Given the description of an element on the screen output the (x, y) to click on. 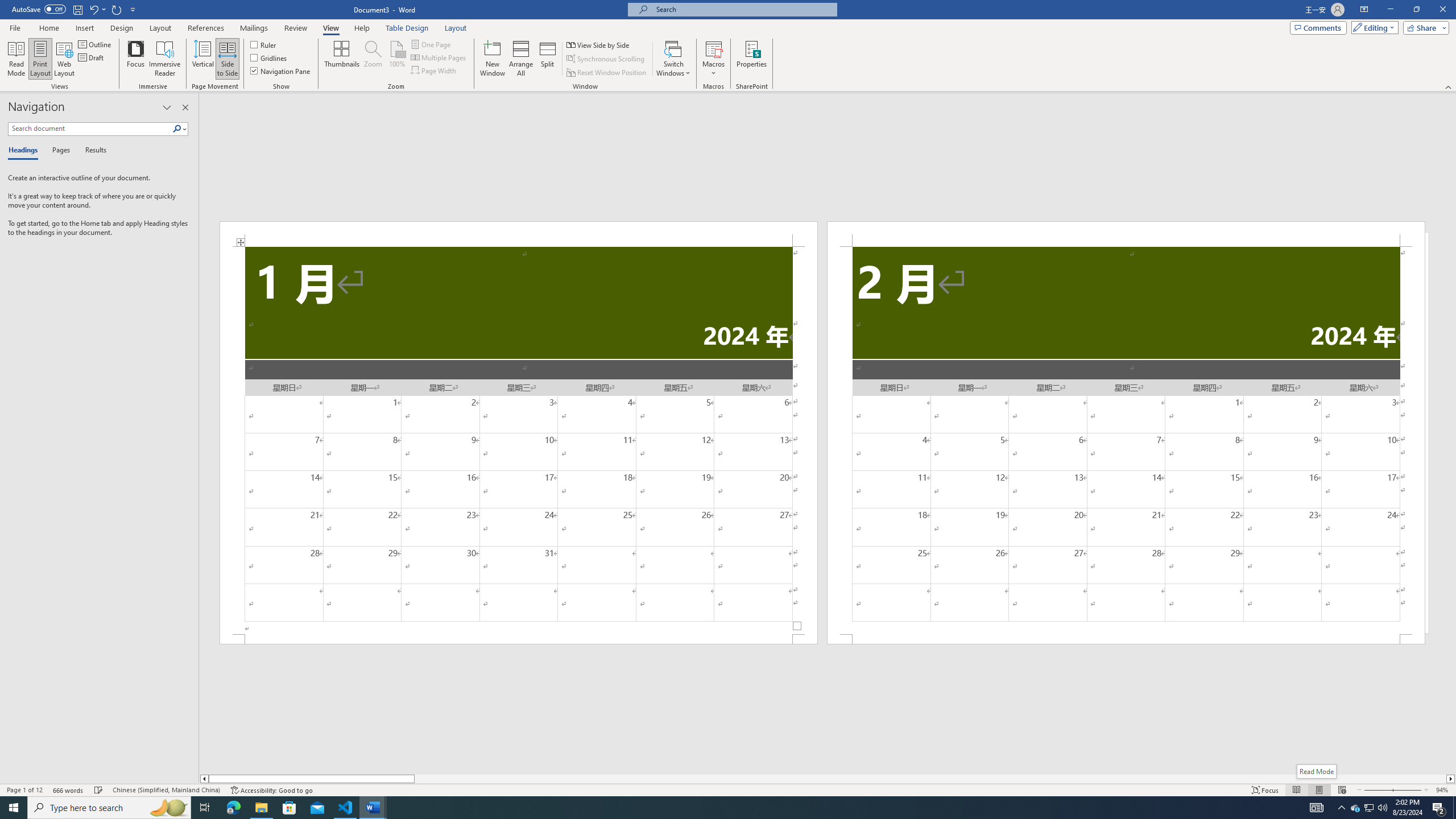
Page right (929, 778)
Draft (91, 56)
Header -Section 1- (518, 233)
Language Chinese (Simplified, Mainland China) (165, 790)
Properties (751, 58)
Immersive Reader (165, 58)
Class: MsoCommandBar (728, 789)
Undo Increase Indent (92, 9)
Side to Side (226, 58)
Zoom... (372, 58)
